Given the description of an element on the screen output the (x, y) to click on. 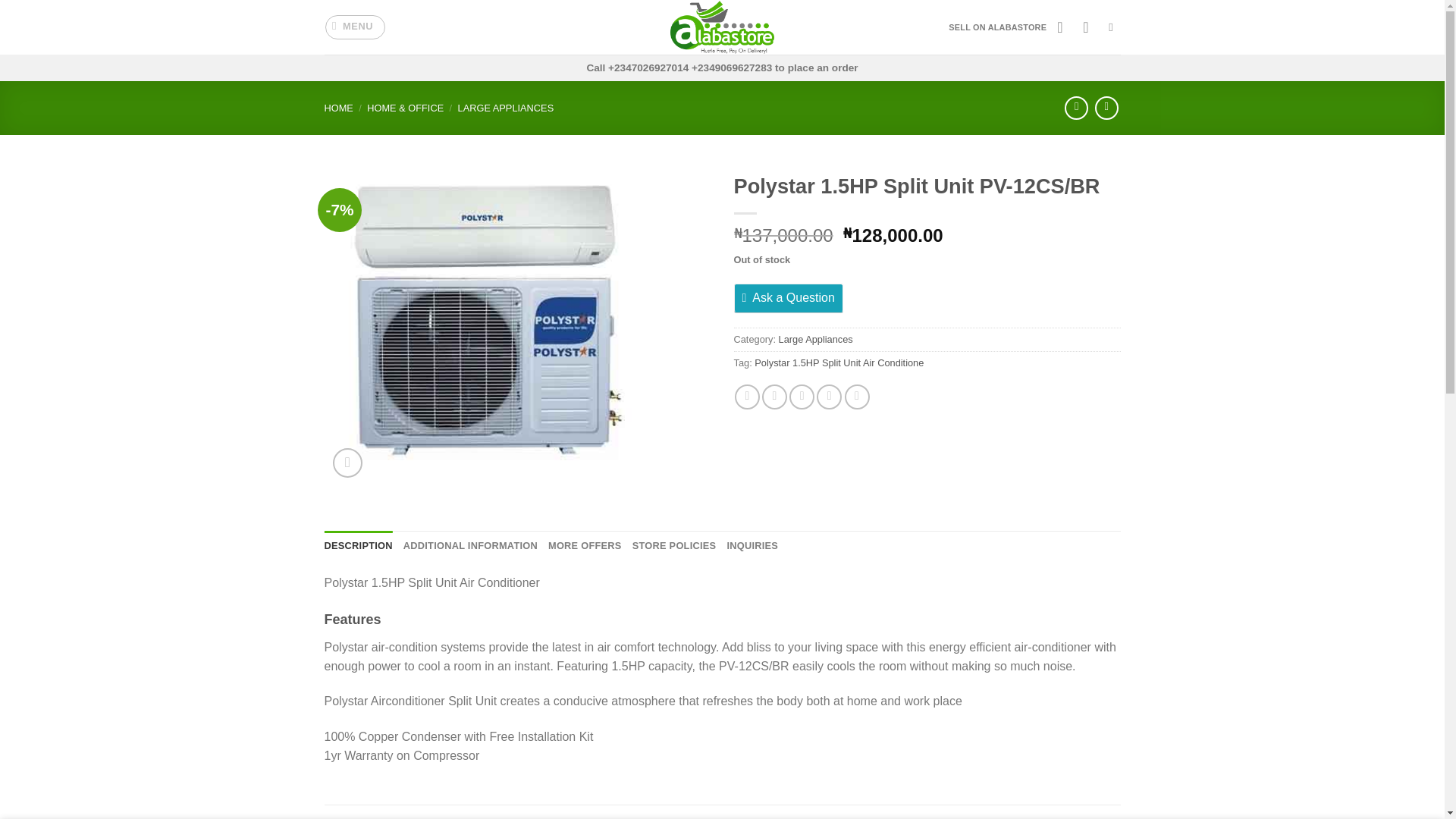
Share on Twitter (774, 396)
HOME (338, 107)
SELL ON ALABASTORE (997, 26)
Polystar 1.5HP Split Unit Air Conditione (838, 362)
Email to a Friend (801, 396)
Large Appliances (815, 338)
MENU (354, 27)
  Ask a Question (788, 297)
Pin on Pinterest (828, 396)
